Given the description of an element on the screen output the (x, y) to click on. 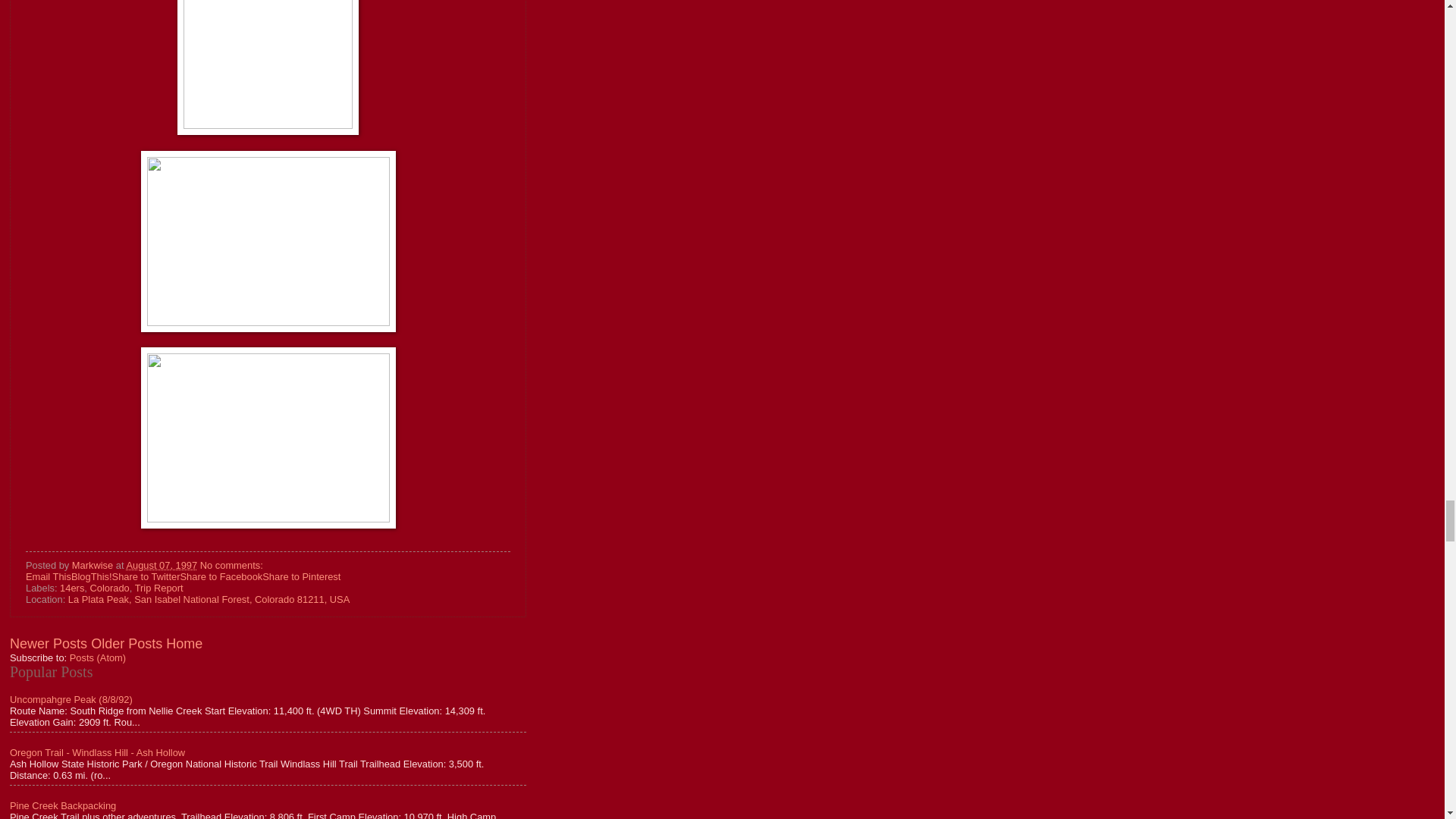
author profile (93, 564)
BlogThis! (91, 576)
Email This (48, 576)
Share to Facebook (220, 576)
permanent link (160, 564)
Share to Twitter (146, 576)
Newer Posts (48, 643)
Share to Pinterest (301, 576)
